Given the description of an element on the screen output the (x, y) to click on. 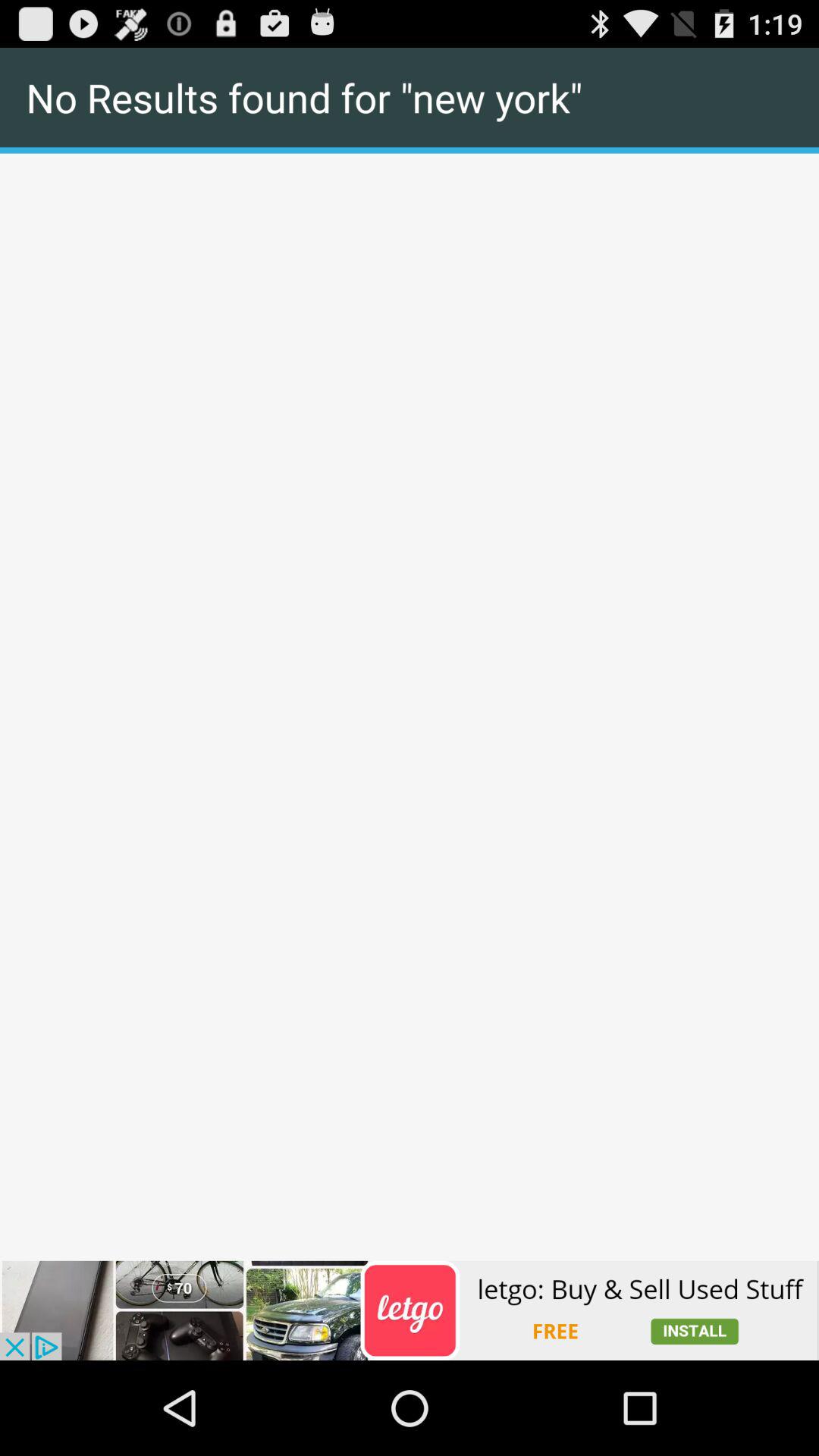
go to external advertisement (409, 1310)
